Given the description of an element on the screen output the (x, y) to click on. 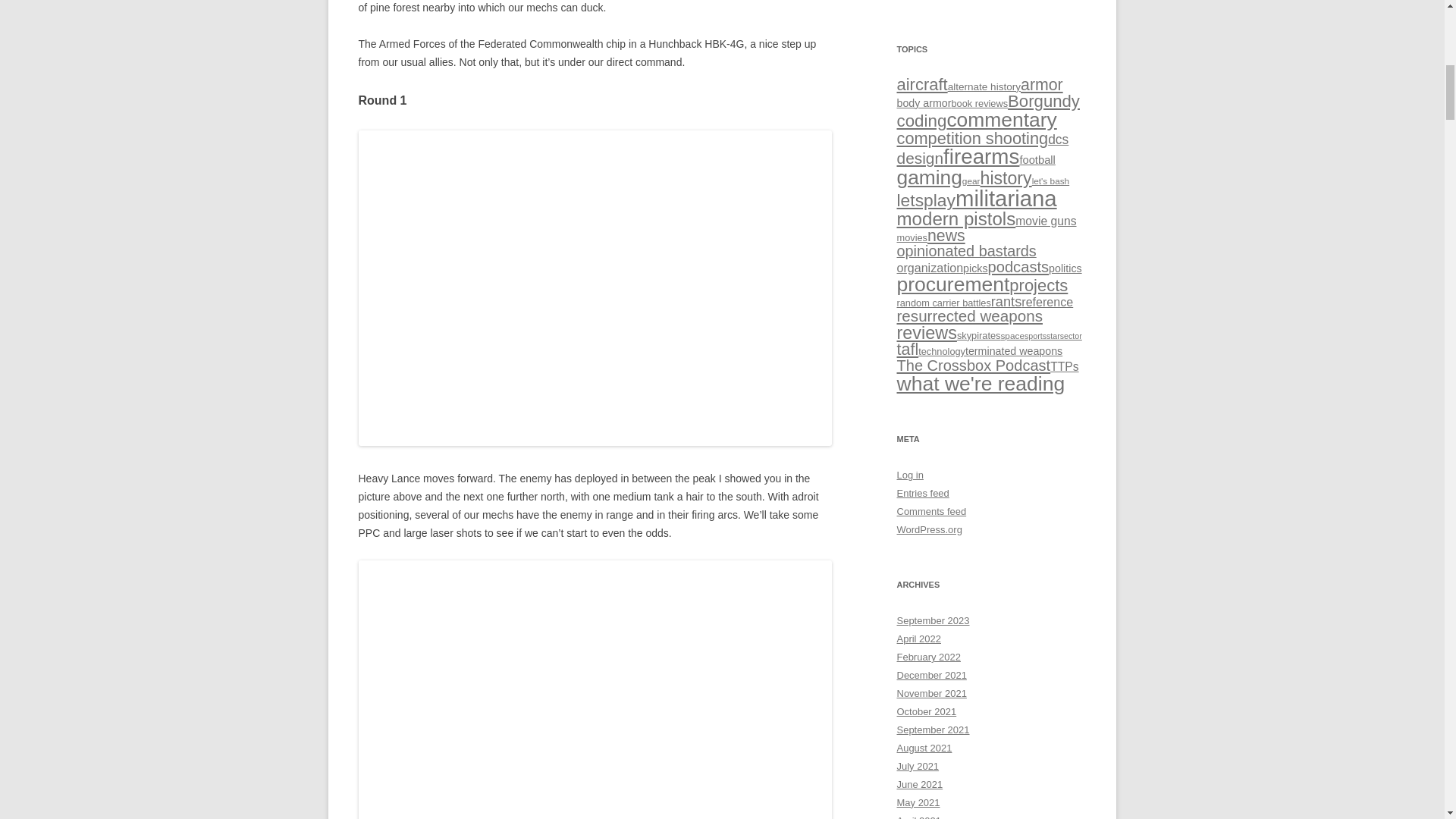
armor (1041, 85)
aircraft (921, 84)
alternate history (983, 86)
